Given the description of an element on the screen output the (x, y) to click on. 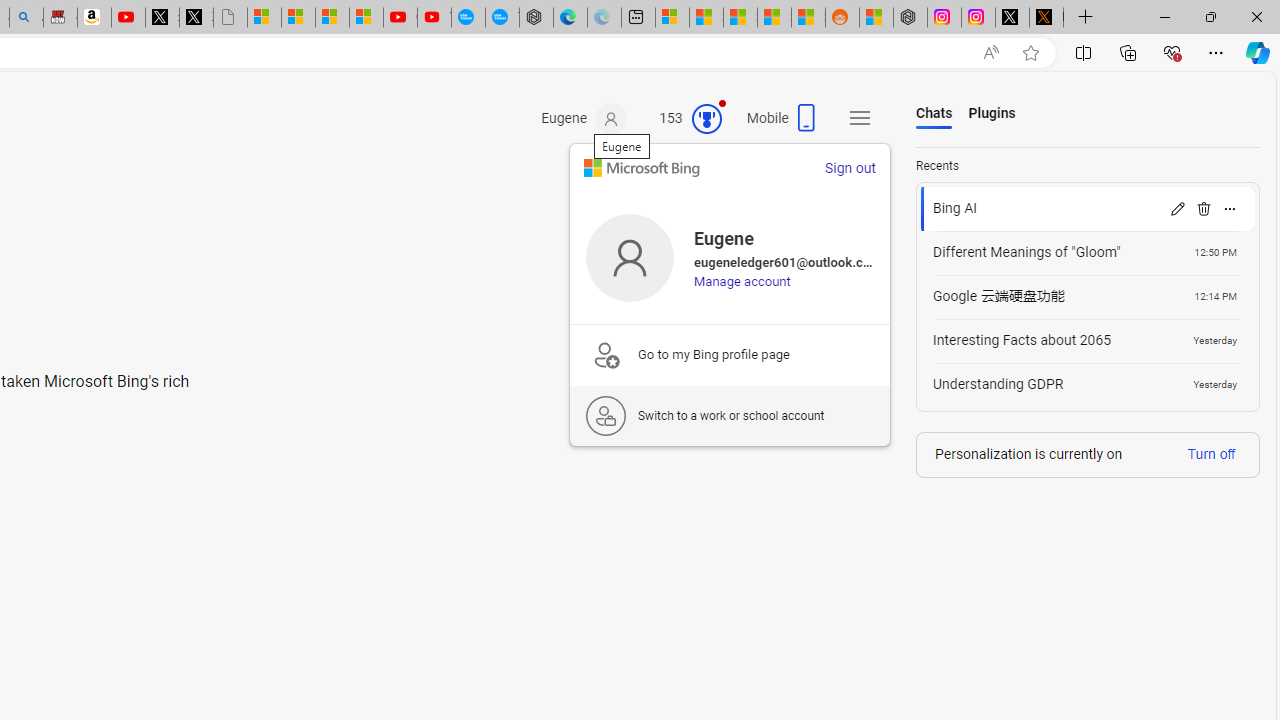
Bing Pages Upsell Logo (605, 354)
Untitled (230, 17)
help.x.com | 524: A timeout occurred (1046, 17)
Read aloud this page (Ctrl+Shift+U) (991, 53)
The most popular Google 'how to' searches (502, 17)
New Tab (1085, 17)
Nordace - Summer Adventures 2024 (909, 17)
Shanghai, China weather forecast | Microsoft Weather (706, 17)
X (196, 17)
Class: medal-circled (706, 118)
Chats (934, 113)
